Given the description of an element on the screen output the (x, y) to click on. 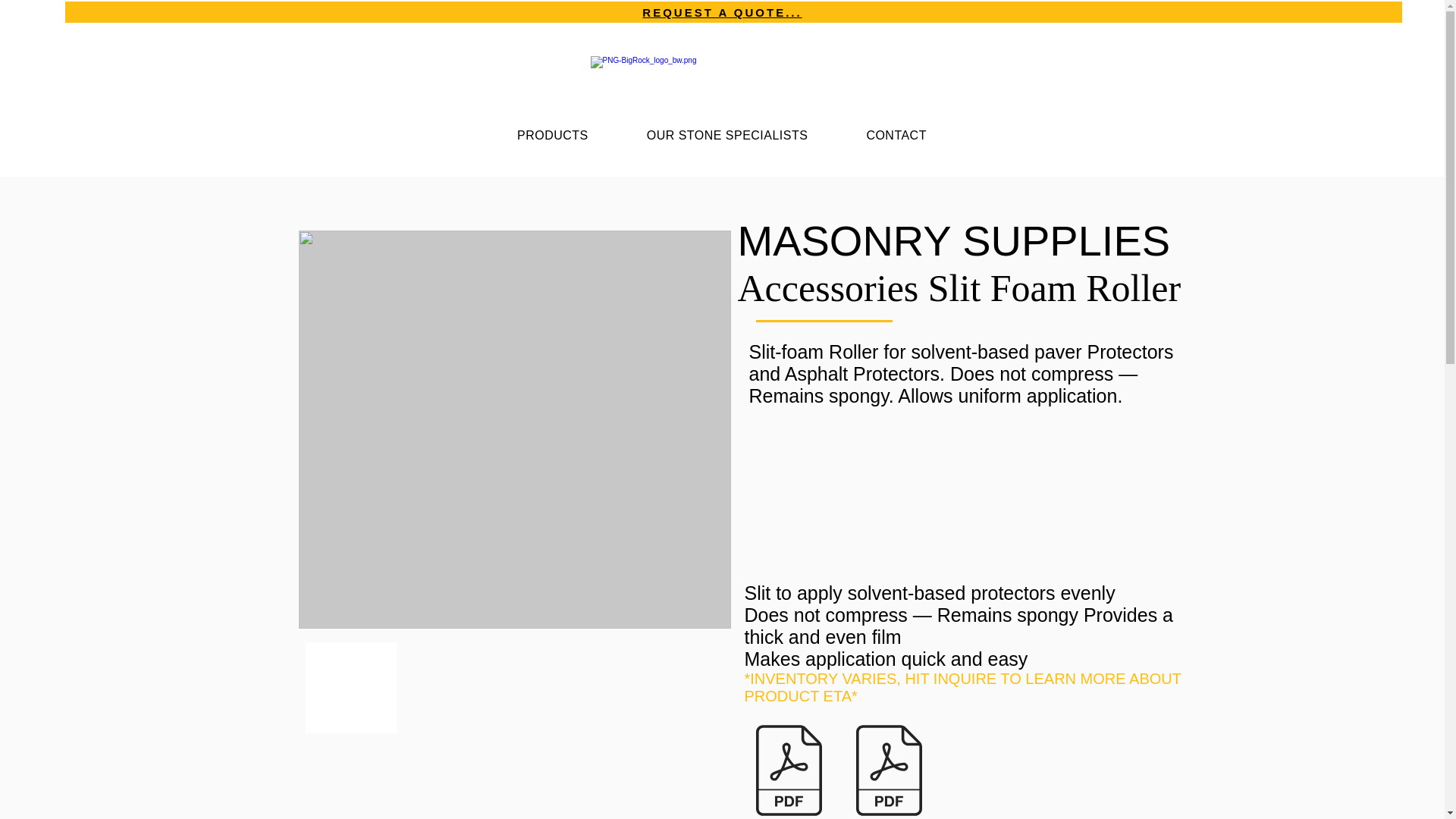
PRODUCTS (553, 135)
CONTACT (896, 135)
OUR STONE SPECIALISTS (727, 135)
REQUEST A QUOTE... (722, 11)
